Given the description of an element on the screen output the (x, y) to click on. 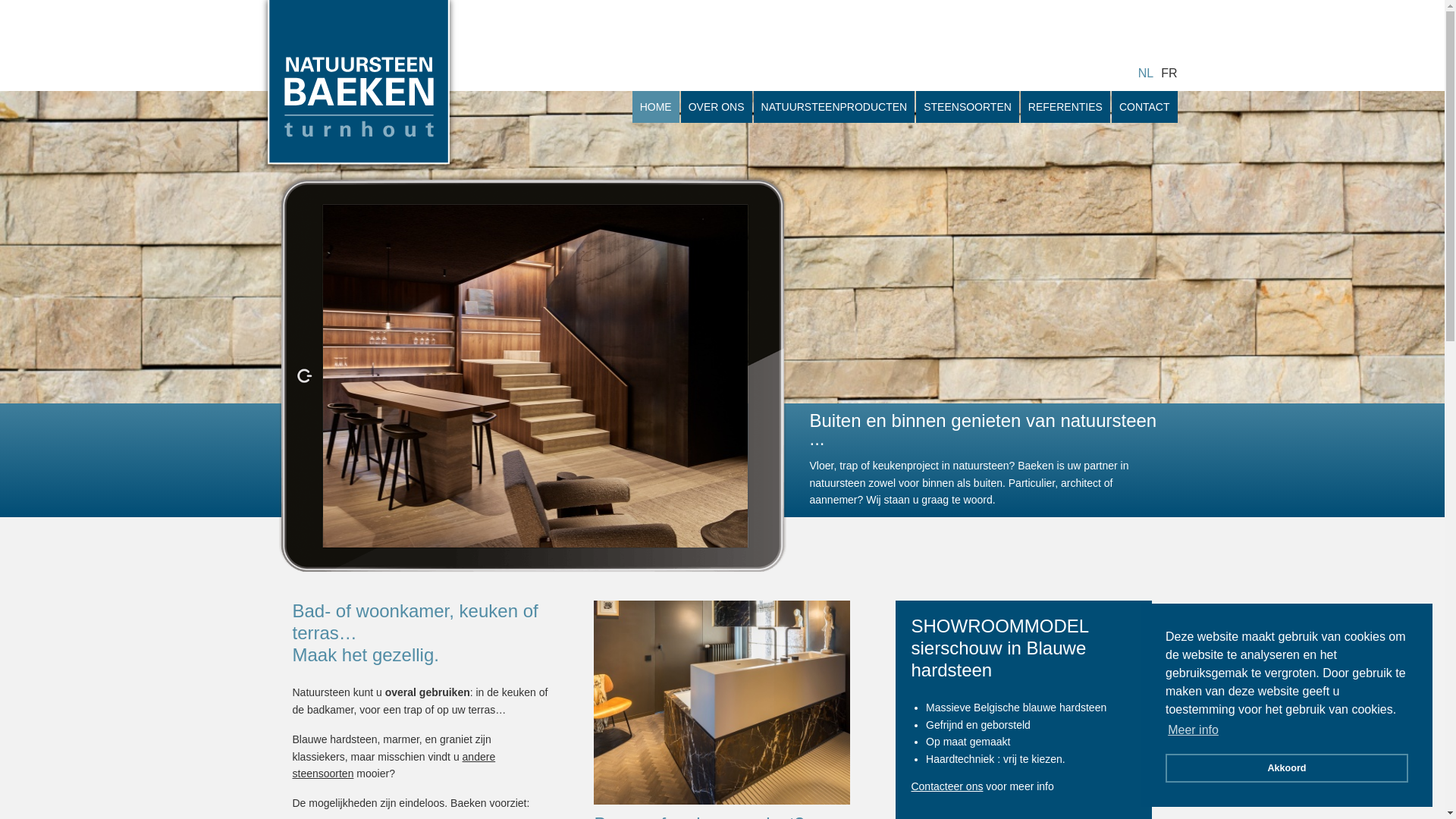
Akkoord Element type: text (1286, 767)
REFERENTIES Element type: text (1065, 106)
Contacteer ons Element type: text (946, 786)
OVER ONS Element type: text (716, 106)
andere steensoorten Element type: text (393, 764)
NL Element type: text (1145, 72)
STEENSOORTEN Element type: text (967, 106)
CONTACT Element type: text (1144, 106)
HOME Element type: text (655, 106)
NATUURSTEENPRODUCTEN Element type: text (834, 106)
Meer info Element type: text (1192, 729)
FR Element type: text (1168, 72)
